Given the description of an element on the screen output the (x, y) to click on. 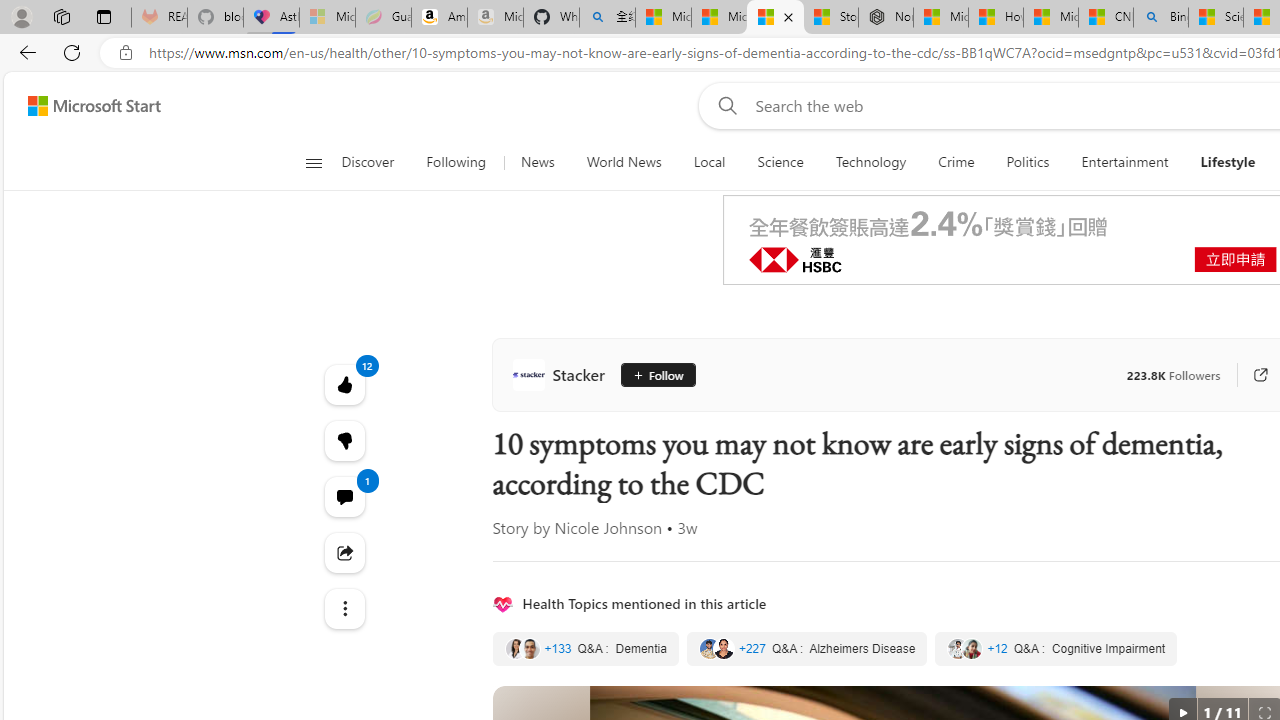
Nordace - Nordace Siena Is Not An Ordinary Backpack (885, 17)
Dementia (584, 649)
Technology (870, 162)
Open navigation menu (313, 162)
Lifestyle (1227, 162)
Go to publisher's site (1251, 374)
How I Got Rid of Microsoft Edge's Unnecessary Features (995, 17)
Bing (1160, 17)
Skip to footer (82, 105)
Asthma Inhalers: Names and Types (271, 17)
Share this story (343, 552)
Technology (870, 162)
